Given the description of an element on the screen output the (x, y) to click on. 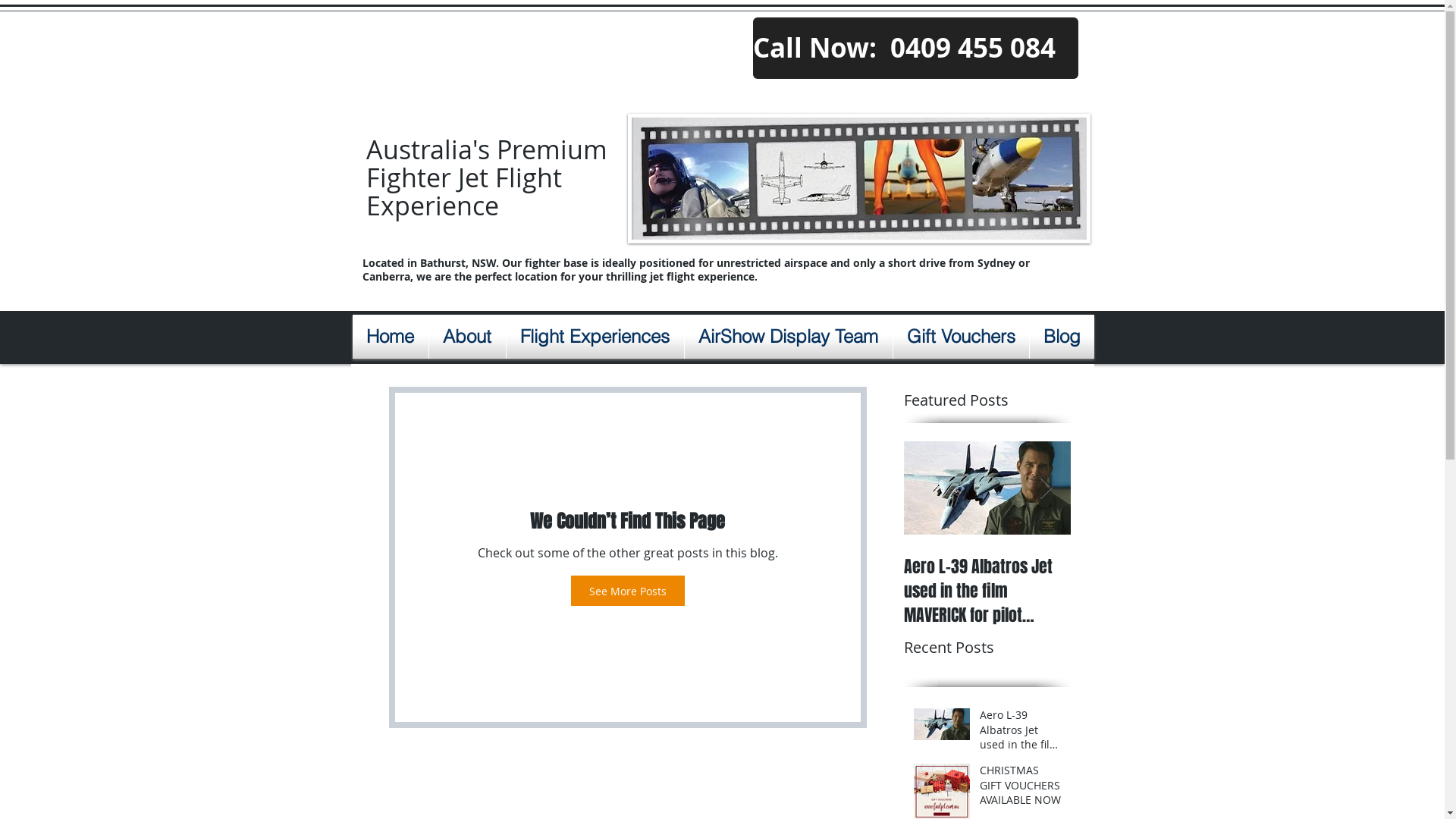
CHRISTMAS GIFT VOUCHERS AVAILABLE NOW Element type: text (1153, 578)
Dam BUSTER Jet Flight Element type: text (1320, 566)
Gift Vouchers Element type: text (961, 336)
Blog Element type: text (1061, 336)
Home Element type: text (389, 336)
AirShow Display Team Element type: text (787, 336)
CHRISTMAS GIFT VOUCHERS AVAILABLE NOW Element type: text (1020, 787)
About Element type: text (467, 336)
Flight Experiences Element type: text (595, 336)
See More Posts Element type: text (627, 590)
